Given the description of an element on the screen output the (x, y) to click on. 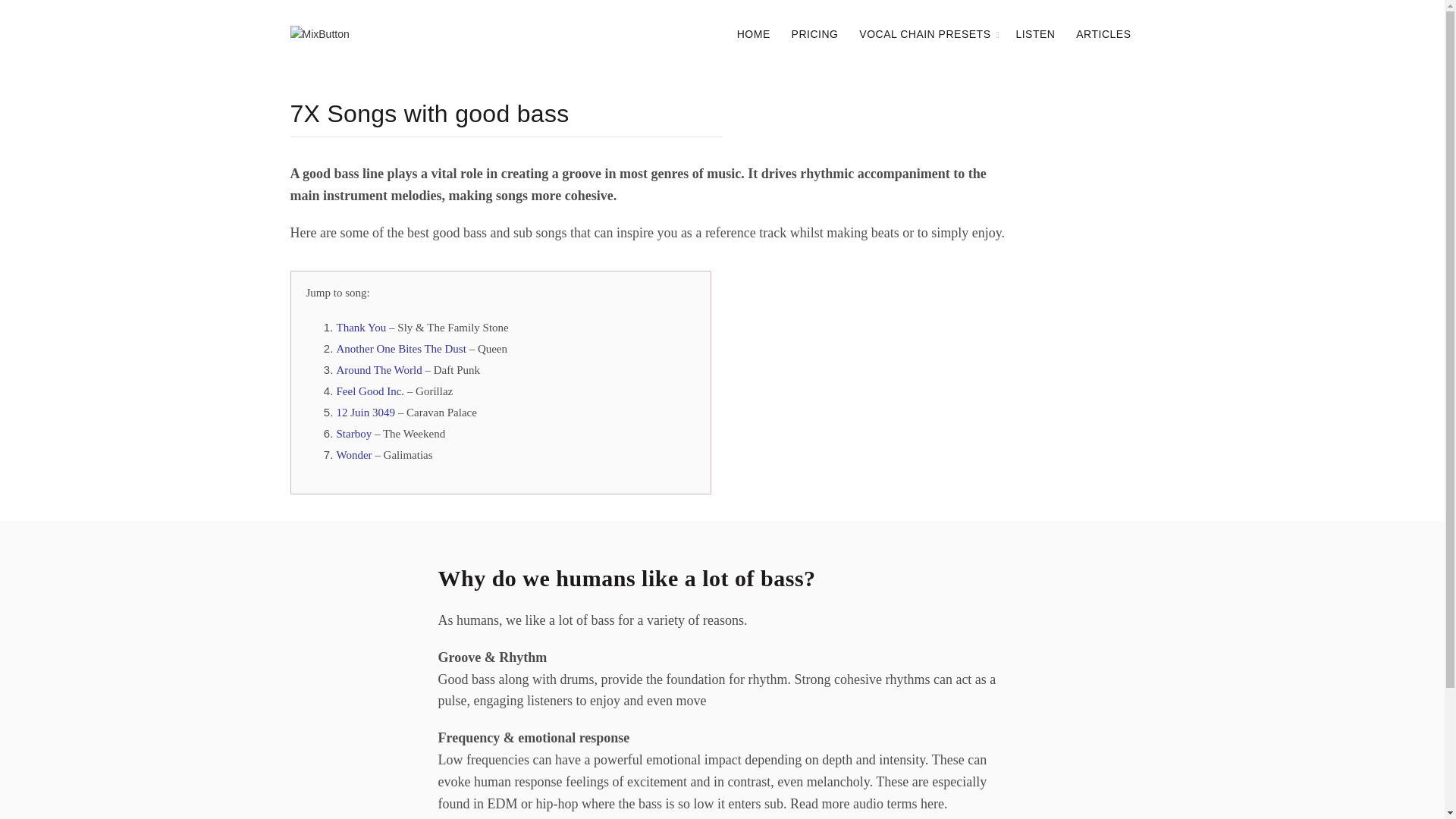
Feel Good Inc. (370, 390)
PRICING (814, 34)
Starboy (354, 433)
12 Juin 3049 (366, 412)
audio terms (885, 803)
making beats (862, 232)
reference track (745, 232)
Wonder (354, 454)
ARTICLES (1102, 34)
Thank You (361, 327)
